Given the description of an element on the screen output the (x, y) to click on. 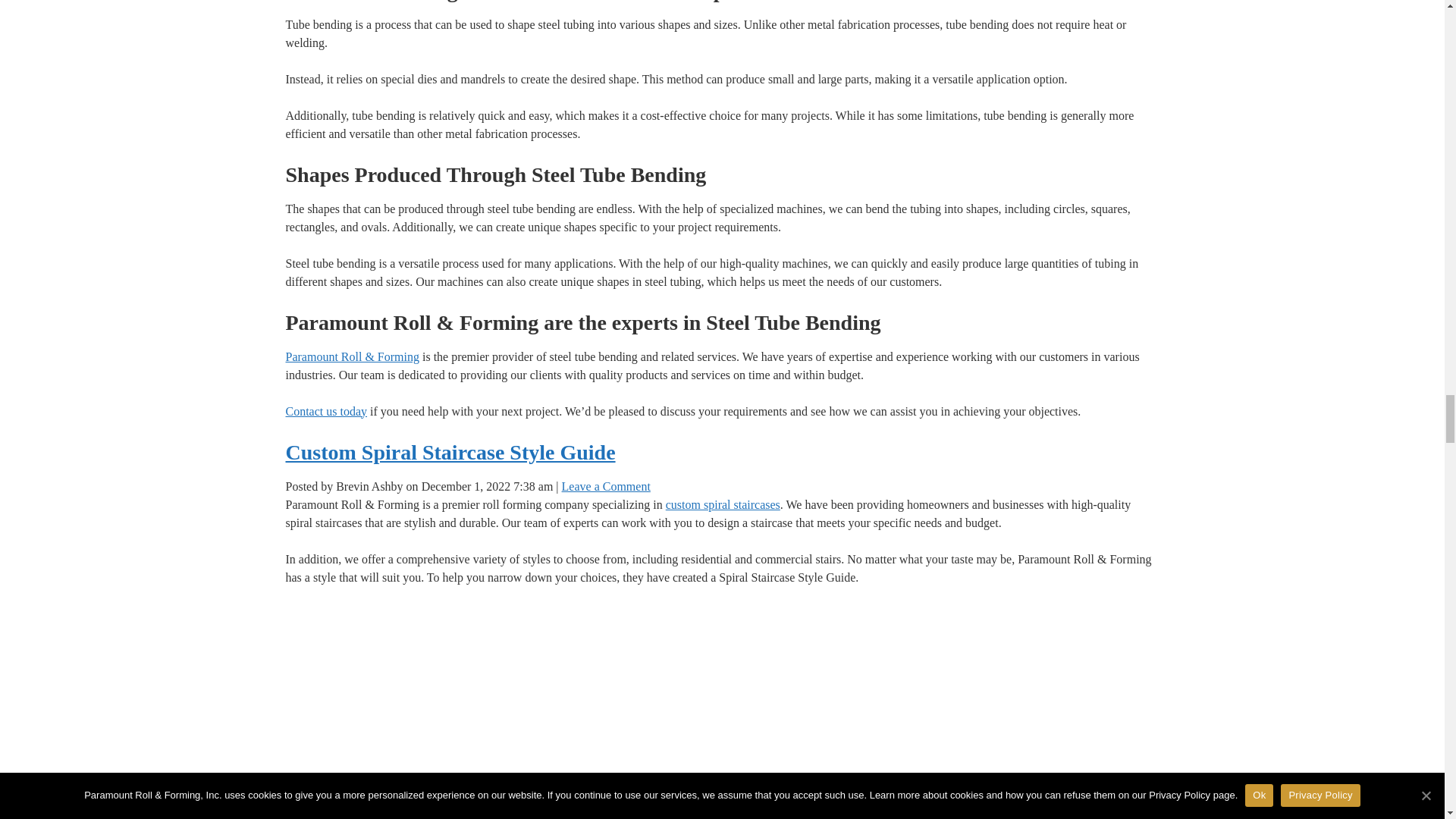
Permalink to Custom Spiral Staircase Style Guide (449, 451)
